Given the description of an element on the screen output the (x, y) to click on. 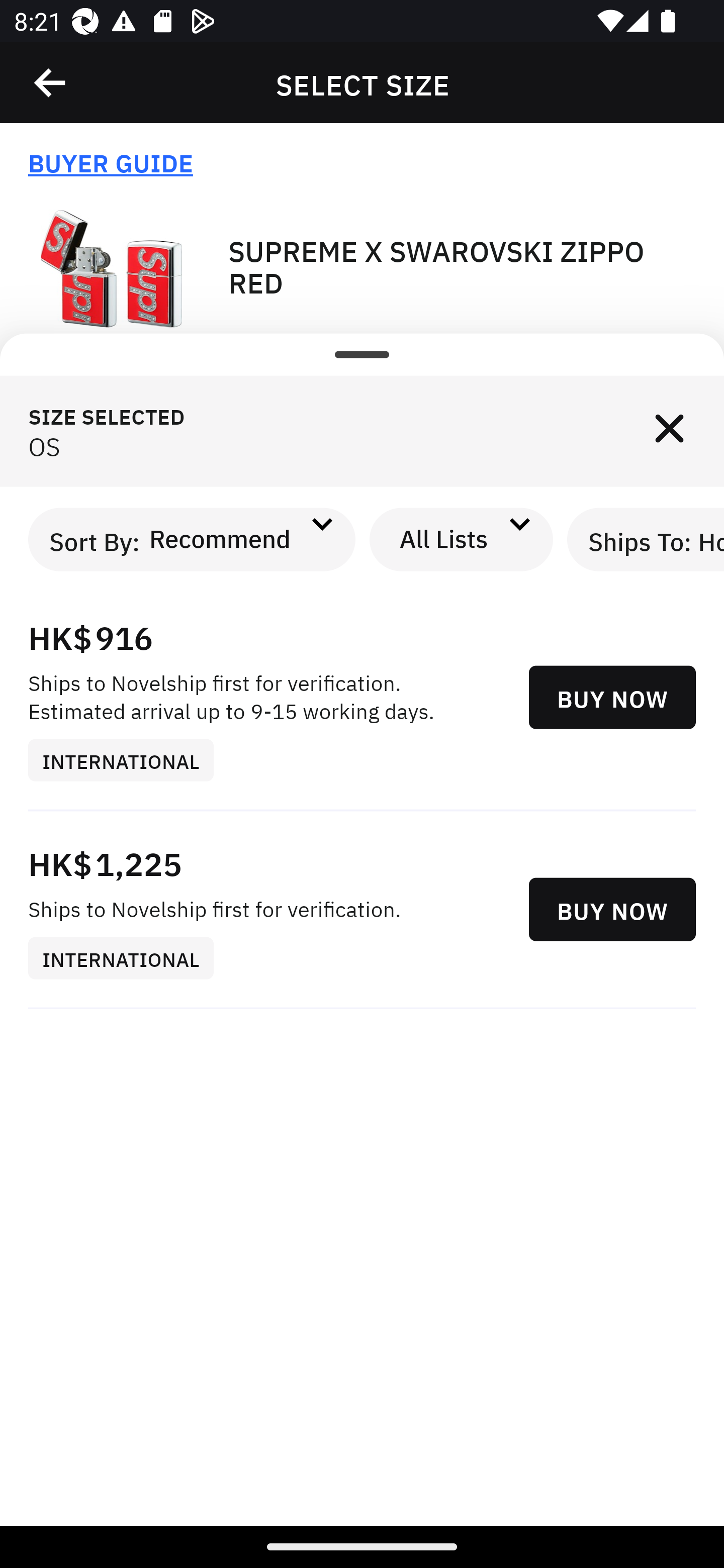
 (50, 83)
ONE SIZE HK$ 916 (361, 422)
 (668, 430)
Recommend  (237, 539)
All Lists  (461, 539)
Ships To: Hong Kong (645, 539)
BUY NOW (612, 697)
INTERNATIONAL (128, 759)
BUY NOW (612, 909)
INTERNATIONAL (128, 958)
